Given the description of an element on the screen output the (x, y) to click on. 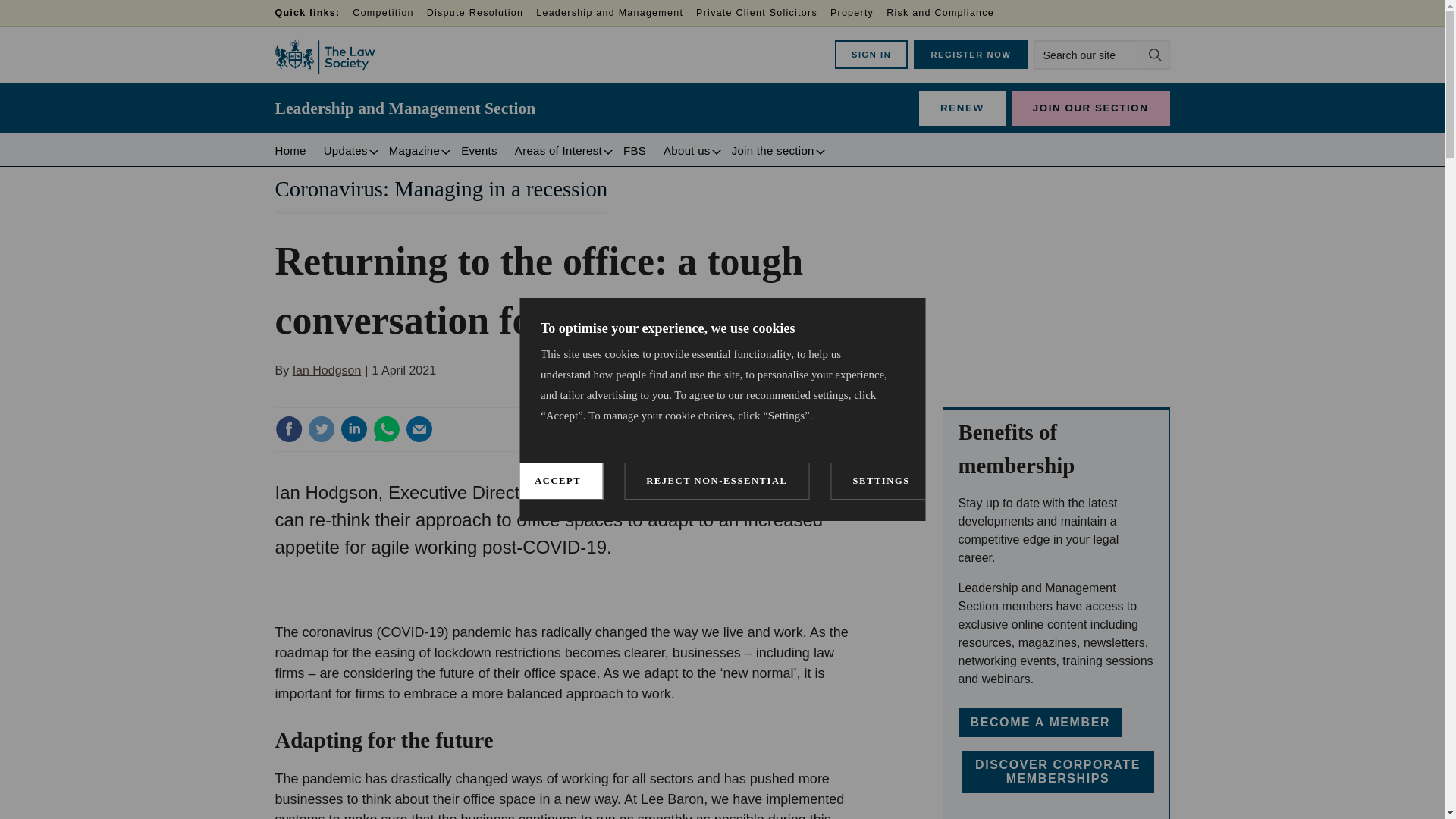
Competition (388, 13)
Share this on Facebook (288, 429)
SIGN IN (871, 54)
Competition (388, 13)
Dispute Resolution (480, 13)
Property (857, 13)
Leadership and Management (615, 13)
REGISTER NOW (970, 54)
Risk and Compliance (946, 13)
Private Client Solicitors (762, 13)
